Given the description of an element on the screen output the (x, y) to click on. 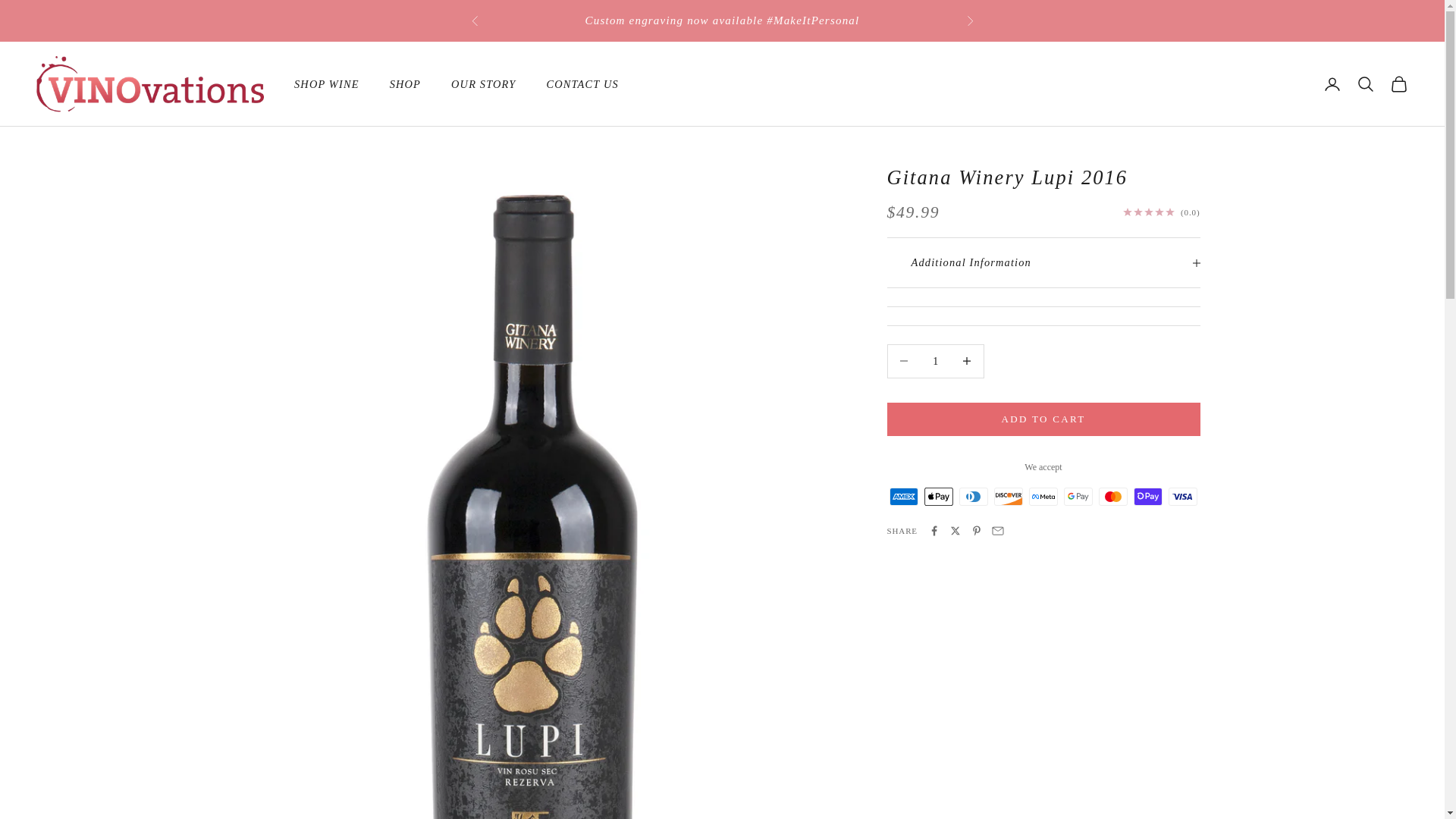
CONTACT US (581, 84)
VINOvations (149, 84)
Open search (1365, 84)
Decrease quantity (967, 360)
SHOP WINE (326, 84)
ADD TO CART (1042, 418)
Decrease quantity (903, 360)
Open cart (1398, 84)
SHOP (405, 84)
OUR STORY (483, 84)
